Given the description of an element on the screen output the (x, y) to click on. 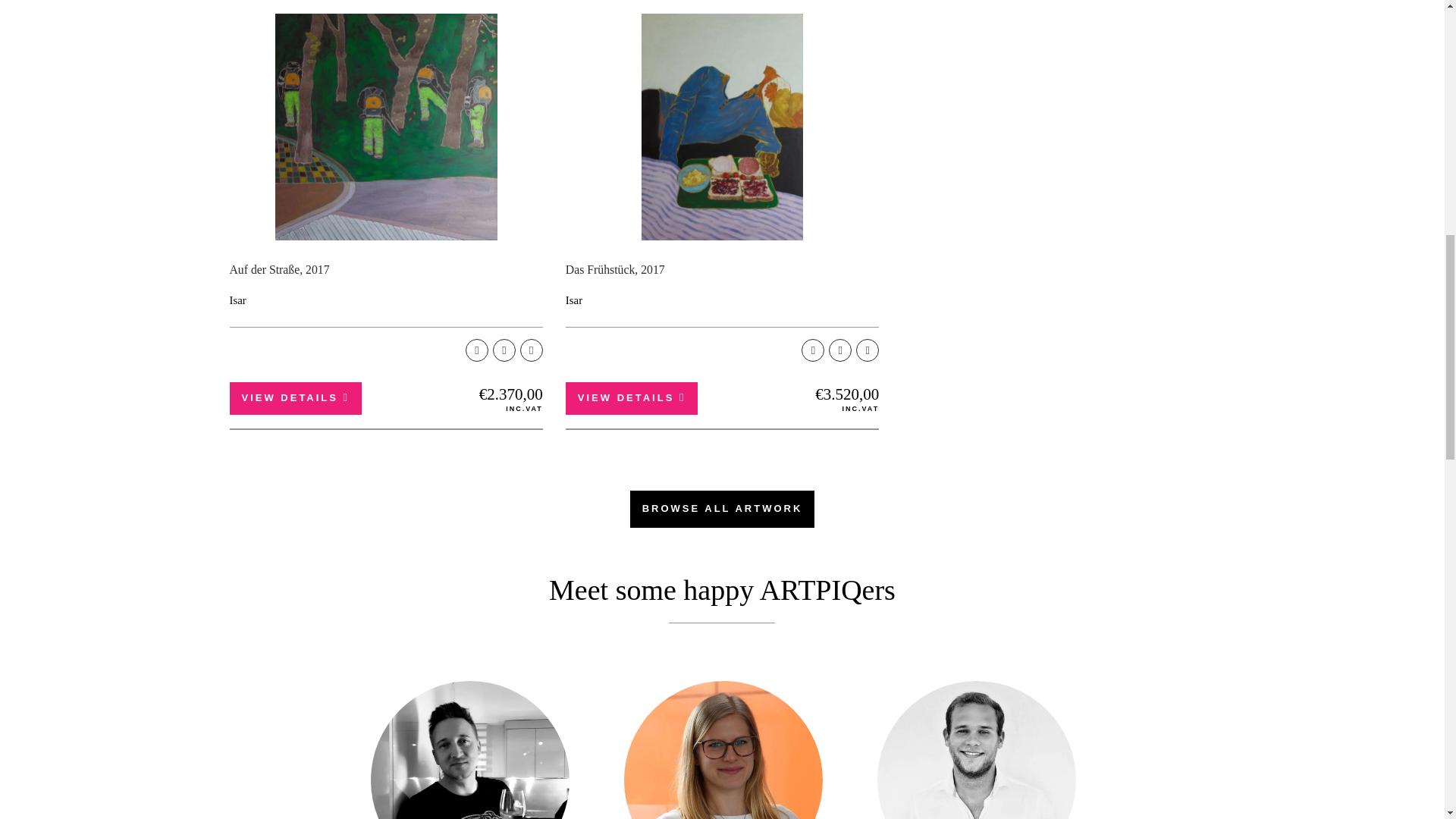
Pin on Pinterest (867, 350)
Tweet on Twitter (839, 350)
Pin on Pinterest (531, 350)
Share on Facebook (813, 350)
Share on Facebook (476, 350)
Tweet on Twitter (504, 350)
